Given the description of an element on the screen output the (x, y) to click on. 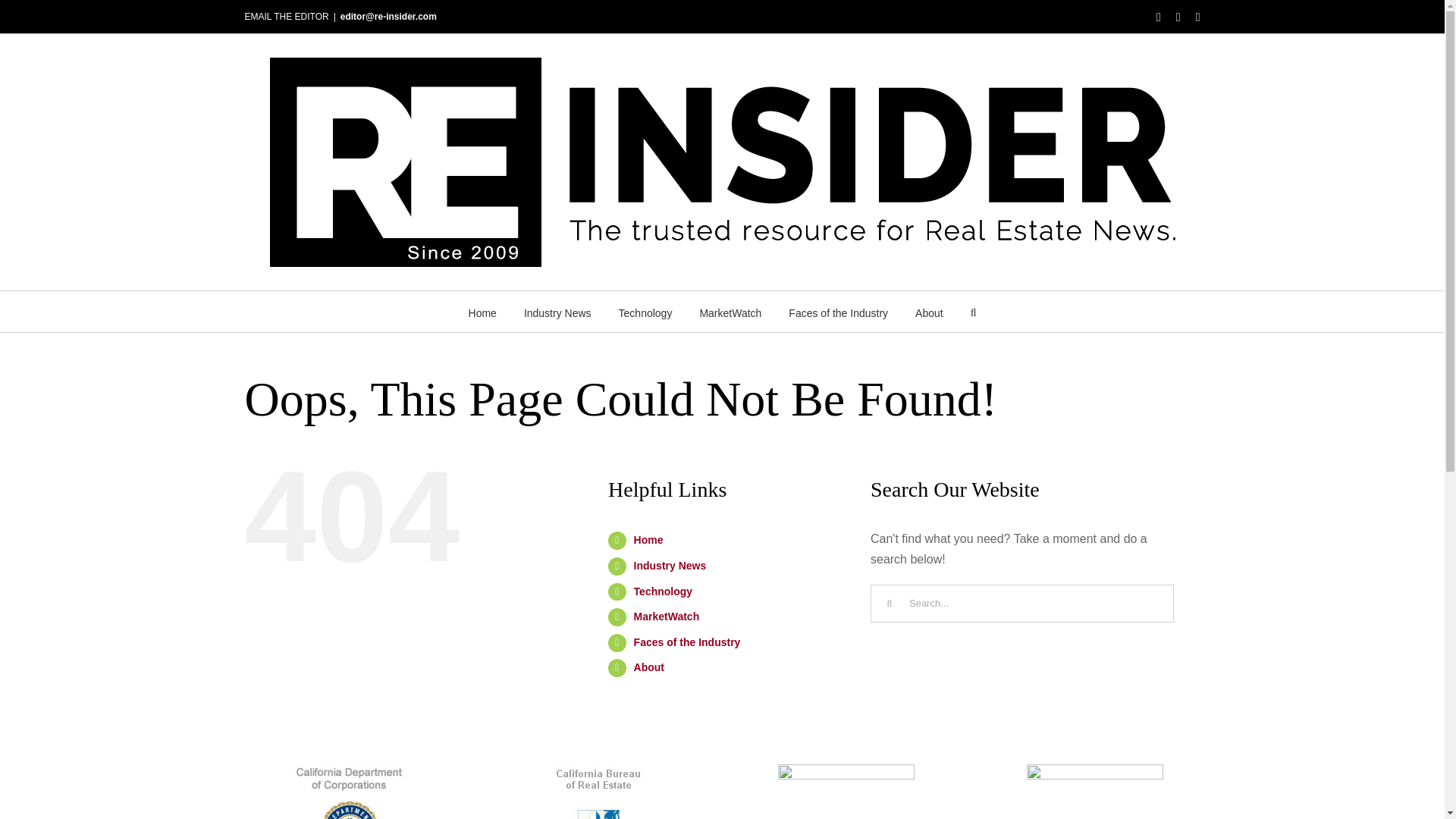
About (648, 666)
MarketWatch (729, 311)
Industry News (557, 311)
MarketWatch (666, 616)
Technology (645, 311)
Home (648, 539)
Technology (663, 591)
Faces of the Industry (838, 311)
Industry News (669, 565)
Faces of the Industry (687, 642)
